Given the description of an element on the screen output the (x, y) to click on. 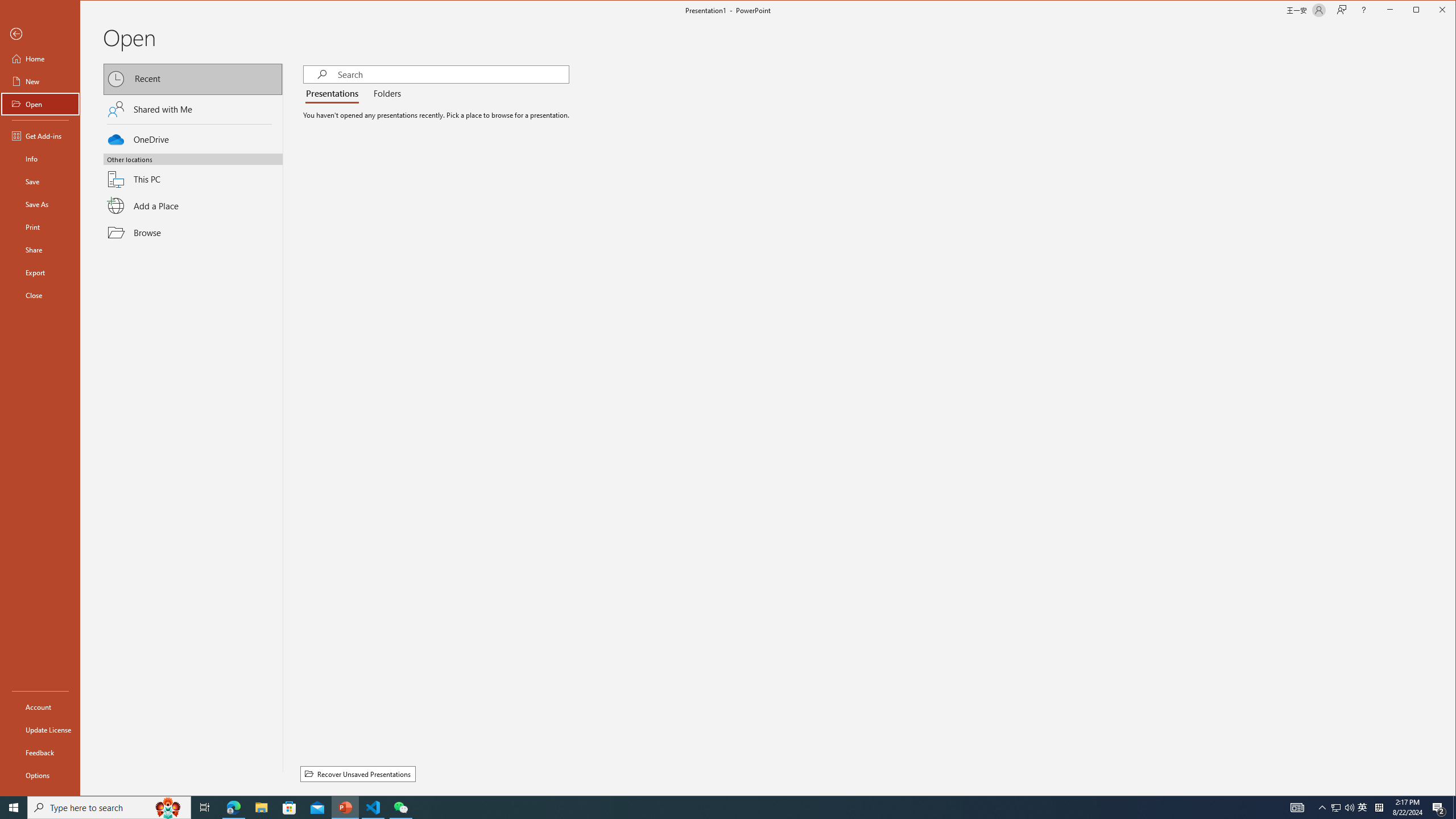
Save As (40, 203)
Options (40, 775)
New (40, 80)
Update License (40, 729)
Get Add-ins (40, 135)
Export (40, 272)
Recover Unsaved Presentations (357, 773)
Print (40, 226)
